Given the description of an element on the screen output the (x, y) to click on. 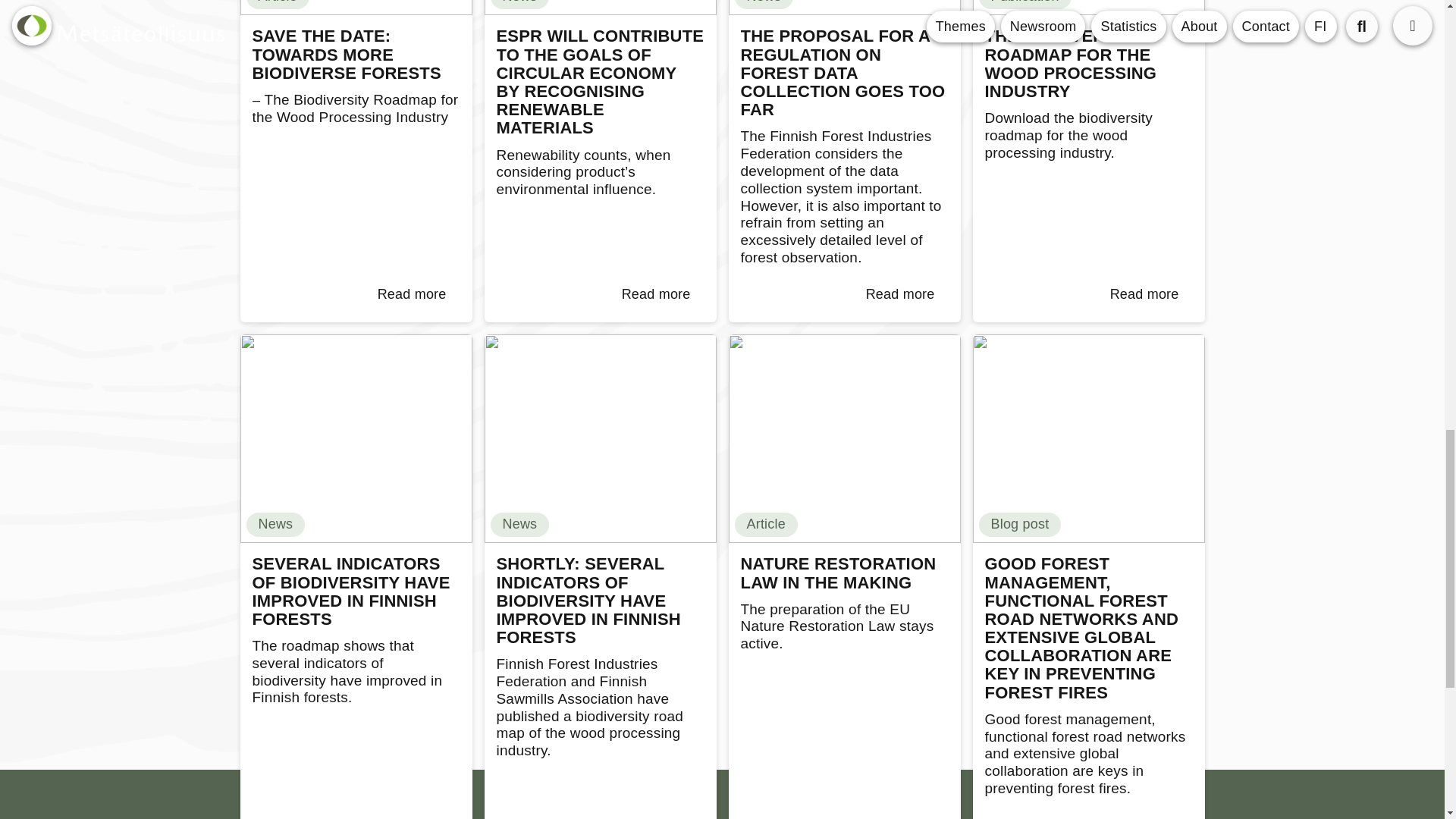
Read more (900, 295)
Read more (656, 295)
NATURE RESTORATION LAW IN THE MAKING (843, 573)
Read more (412, 295)
Read more (1144, 295)
